Given the description of an element on the screen output the (x, y) to click on. 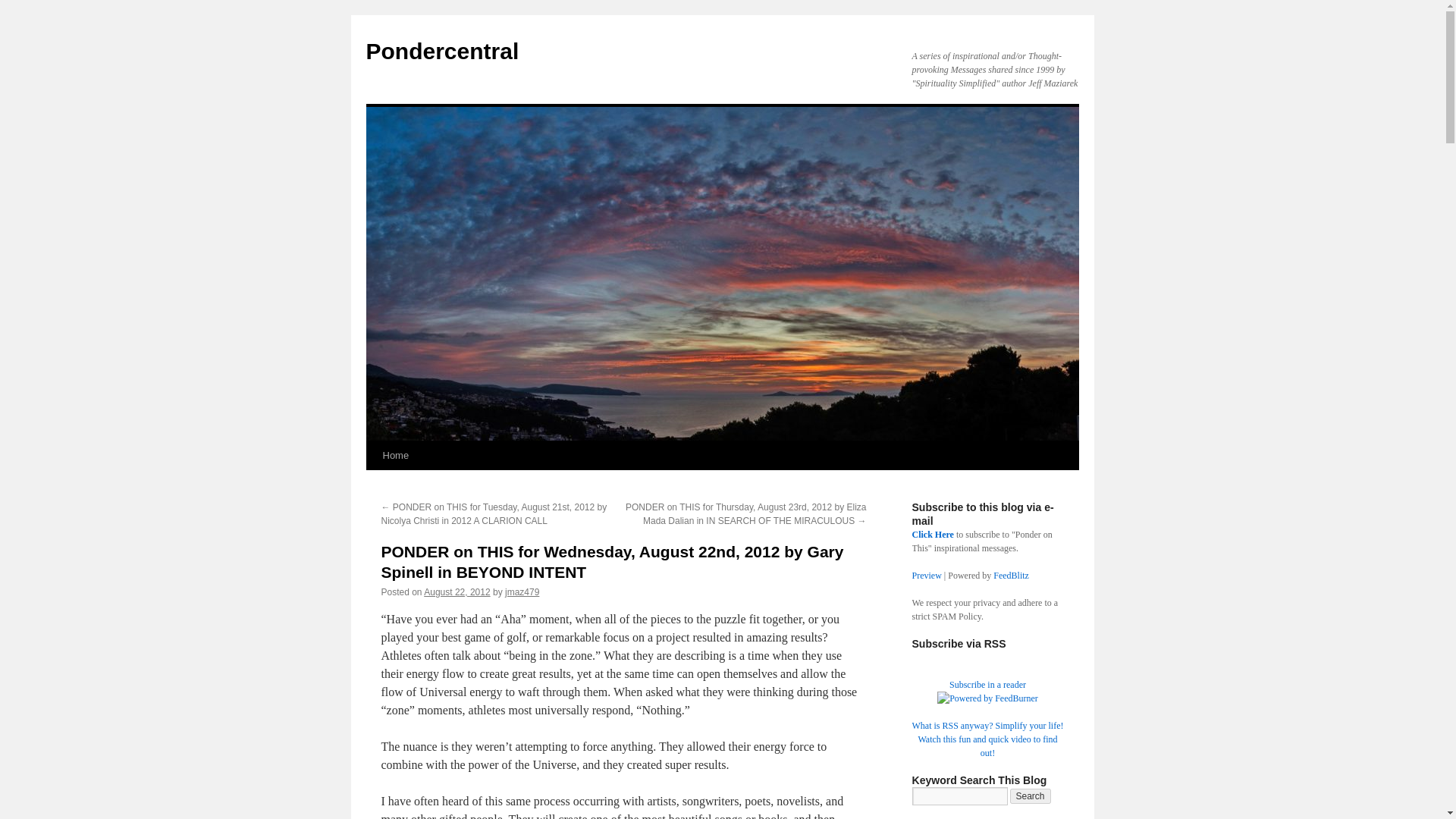
August 22, 2012 (456, 592)
Search (1030, 795)
Pondercentral (441, 50)
1:27 am (456, 592)
Search (1030, 795)
Home (395, 455)
Subscribe in a reader (987, 684)
jmaz479 (521, 592)
Subscribe to my feed (987, 684)
Preview (925, 575)
Click Here (932, 534)
FeedBlitz (1010, 575)
View all posts by jmaz479 (521, 592)
